Given the description of an element on the screen output the (x, y) to click on. 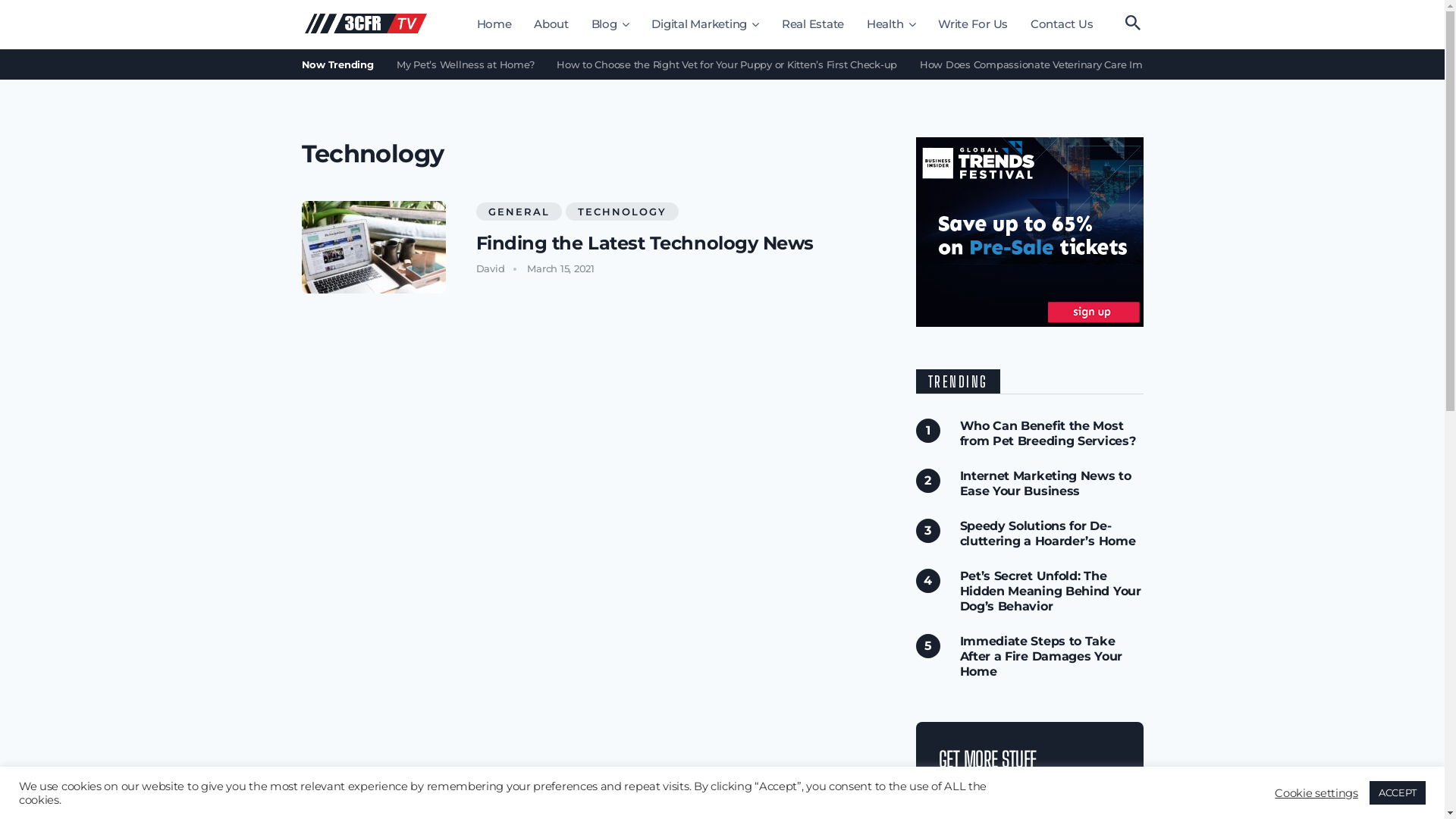
Health Element type: text (891, 24)
About Element type: text (550, 24)
Cookie settings Element type: text (1315, 792)
TECHNOLOGY Element type: text (621, 211)
Home Element type: text (493, 24)
Contact Us Element type: text (1061, 24)
Immediate Steps to Take After a Fire Damages Your Home Element type: text (1041, 655)
Internet Marketing News to Ease Your Business Element type: text (1045, 483)
David Element type: text (490, 268)
Blog Element type: text (610, 24)
ACCEPT Element type: text (1397, 792)
Real Estate Element type: text (812, 24)
Who Can Benefit the Most from Pet Breeding Services? Element type: text (1047, 433)
Digital Marketing Element type: text (705, 24)
GENERAL Element type: text (518, 211)
Finding the Latest Technology News Element type: hover (373, 246)
Write For Us Element type: text (972, 24)
Finding the Latest Technology News Element type: text (645, 243)
